Given the description of an element on the screen output the (x, y) to click on. 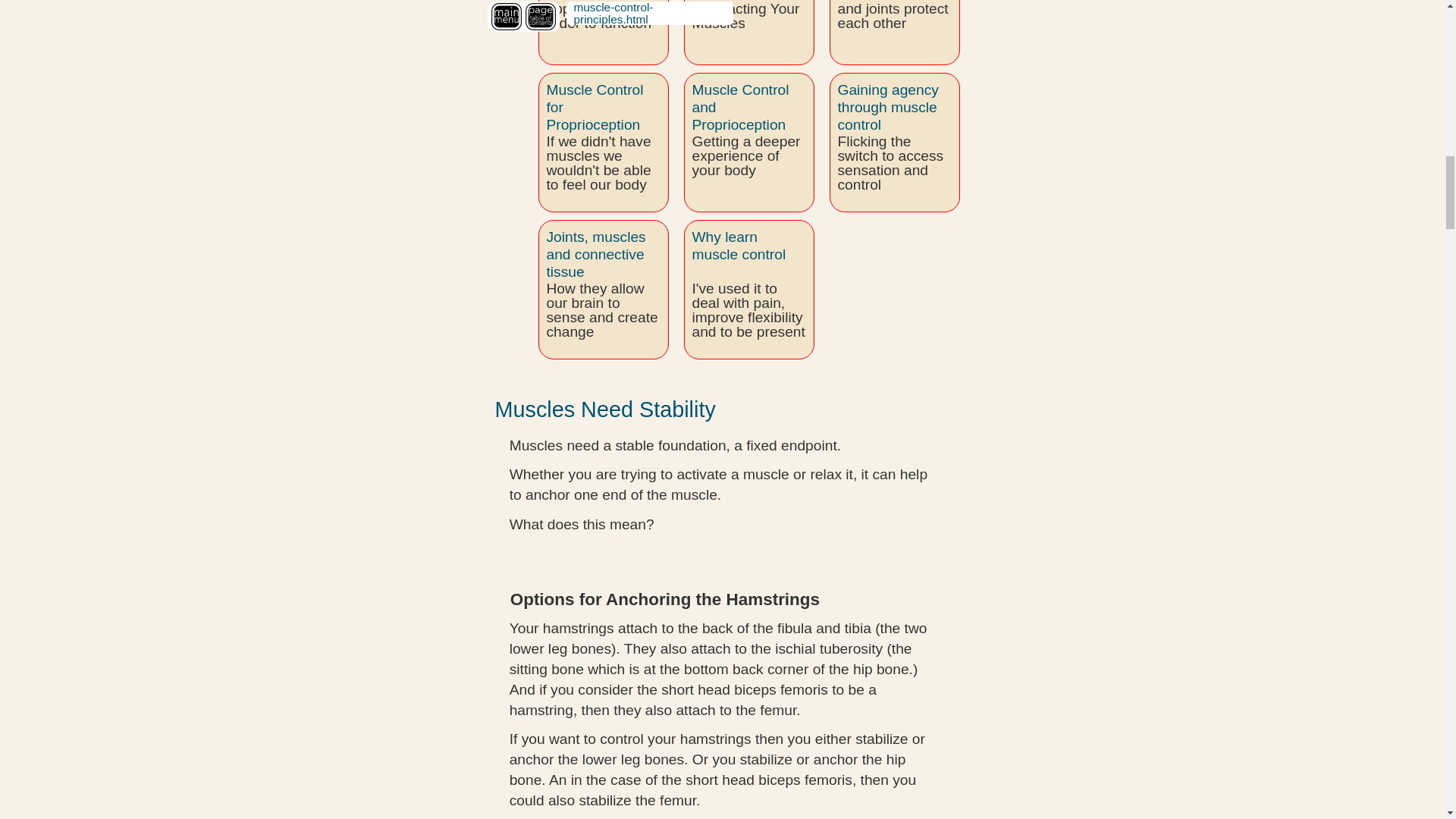
Joints, muscles and connective tissue (595, 254)
Muscle Control and Proprioception (740, 106)
Gaining agency through muscle control (887, 106)
Muscles Need Stability (604, 409)
Muscle Control for Proprioception (594, 106)
Why learn muscle control (738, 245)
